Given the description of an element on the screen output the (x, y) to click on. 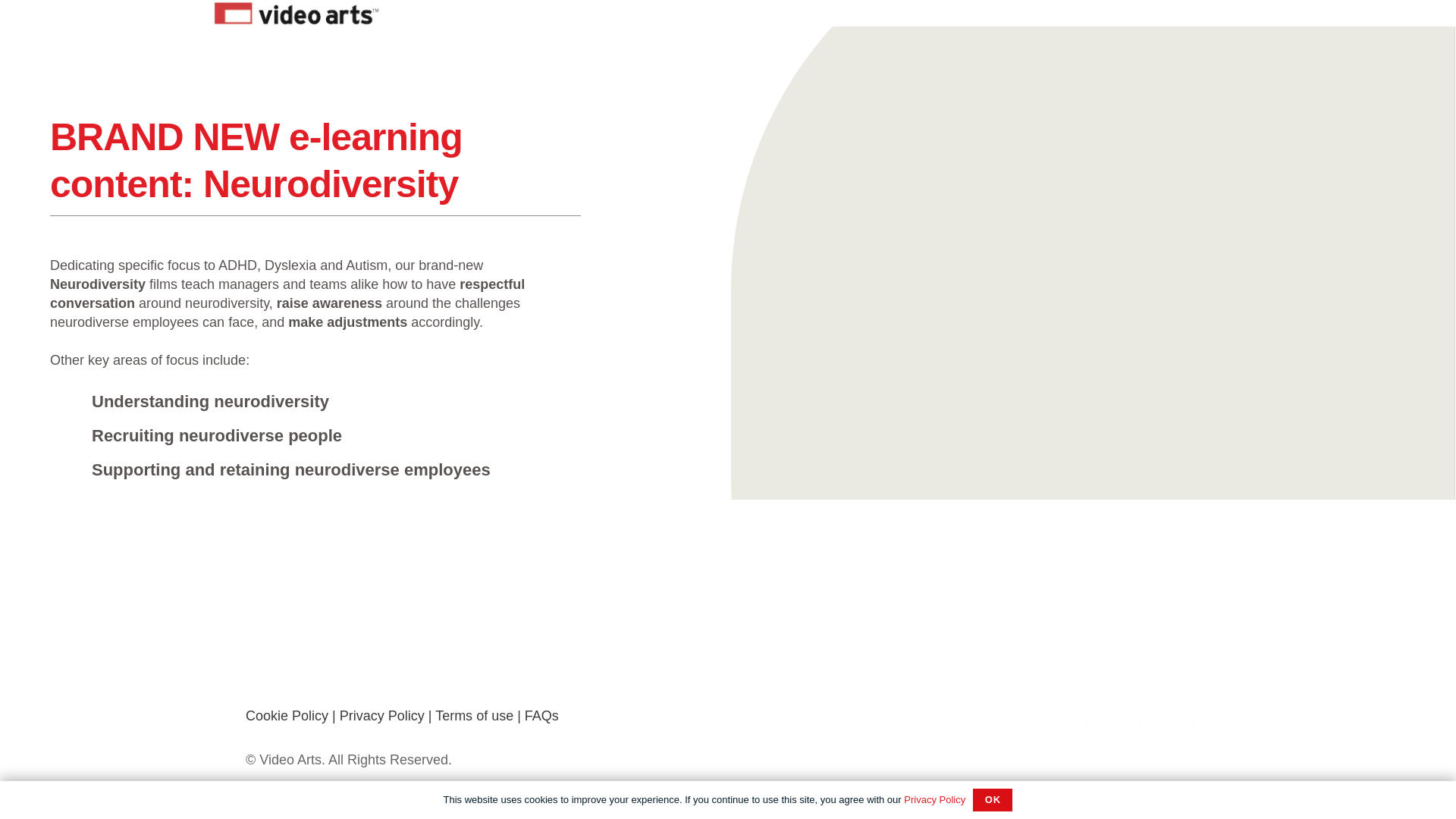
Cookie Policy (287, 715)
OK (991, 799)
Privacy Policy (934, 799)
Privacy Policy (382, 715)
Terms of use (474, 715)
FAQs (541, 715)
